Given the description of an element on the screen output the (x, y) to click on. 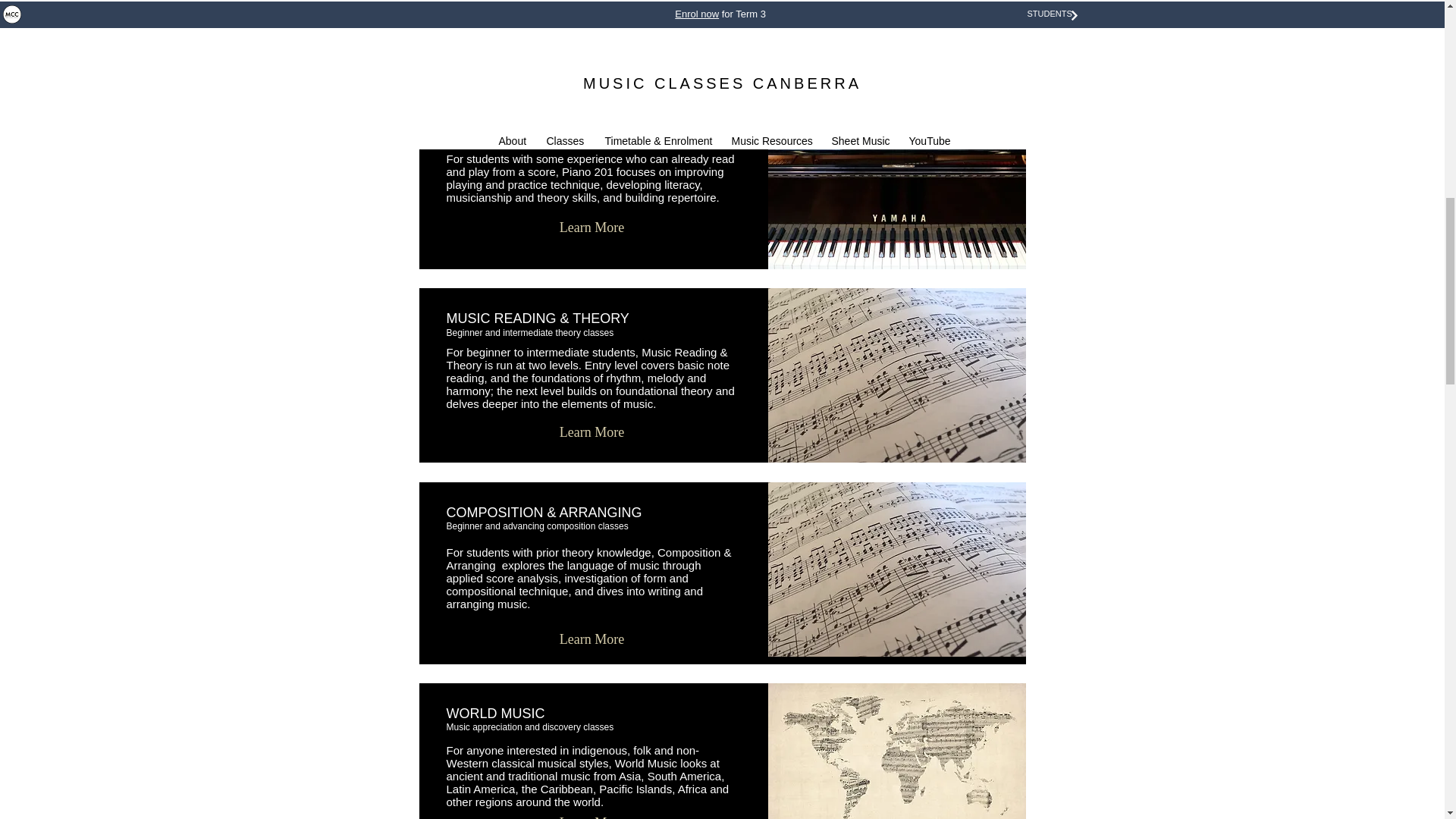
Learn More (592, 639)
Learn More (592, 813)
Learn More (592, 227)
Learn More (592, 432)
Learn More (592, 38)
